Given the description of an element on the screen output the (x, y) to click on. 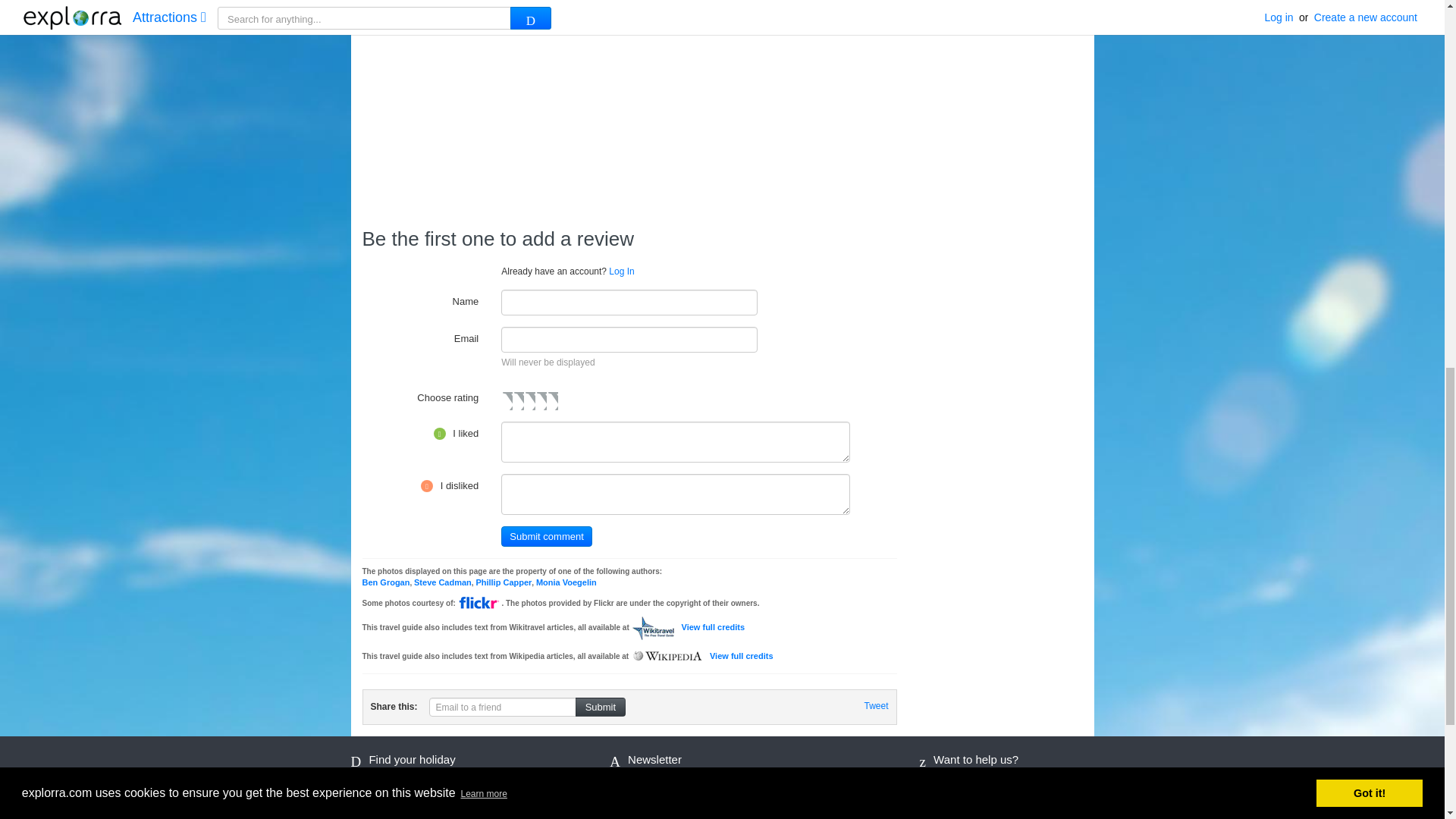
Flickr (478, 602)
